Given the description of an element on the screen output the (x, y) to click on. 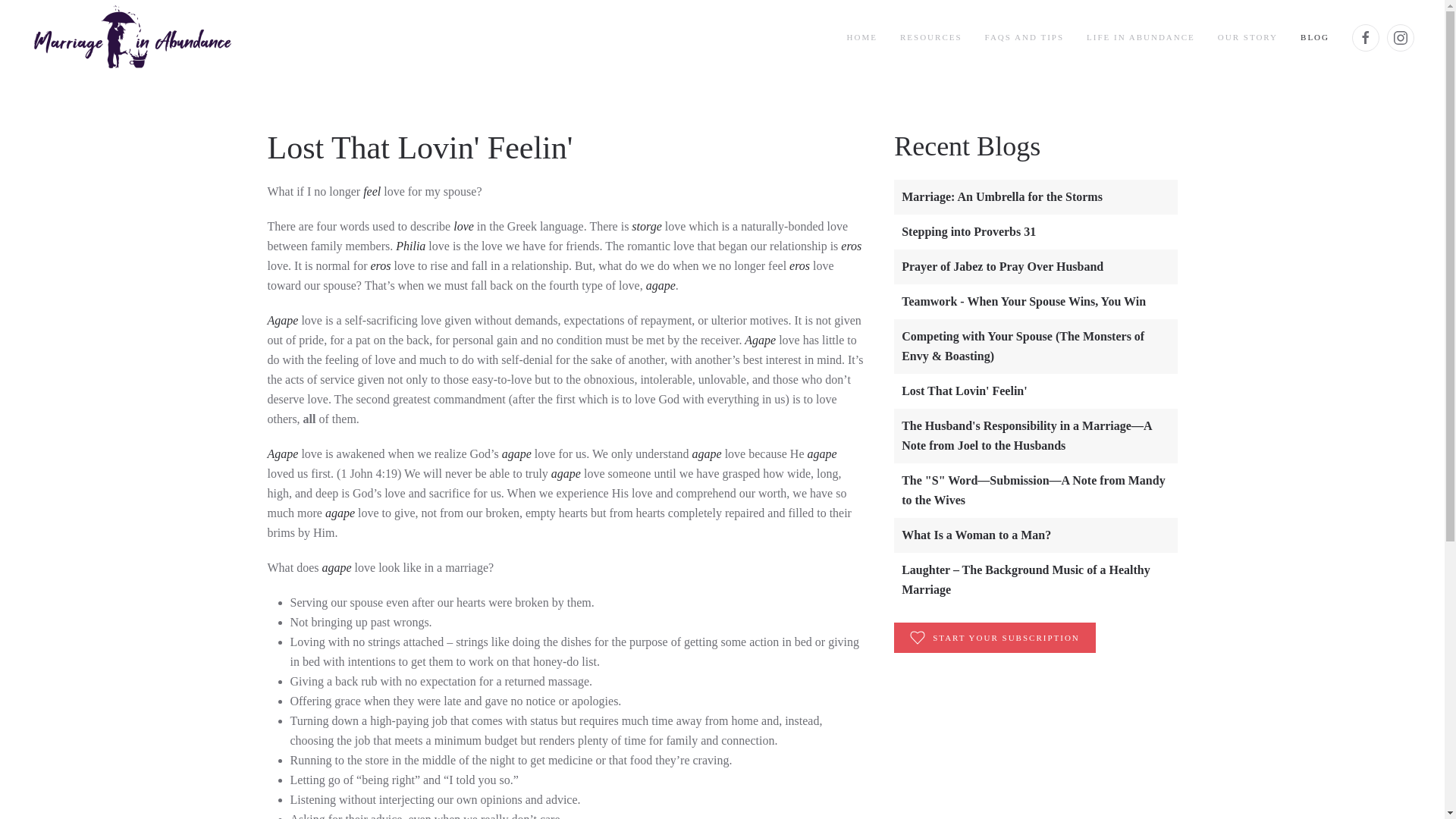
Prayer of Jabez to Pray Over Husband (1002, 266)
OUR STORY (1247, 37)
Marriage: An Umbrella for the Storms (1001, 196)
Start your subscription (994, 637)
What Is a Woman to a Man? (976, 534)
START YOUR SUBSCRIPTION (994, 637)
FAQS AND TIPS (1024, 37)
Teamwork - When Your Spouse Wins, You Win (1023, 300)
RESOURCES (930, 37)
LIFE IN ABUNDANCE (1140, 37)
Stepping into Proverbs 31 (968, 231)
Lost That Lovin' Feelin' (964, 390)
